Given the description of an element on the screen output the (x, y) to click on. 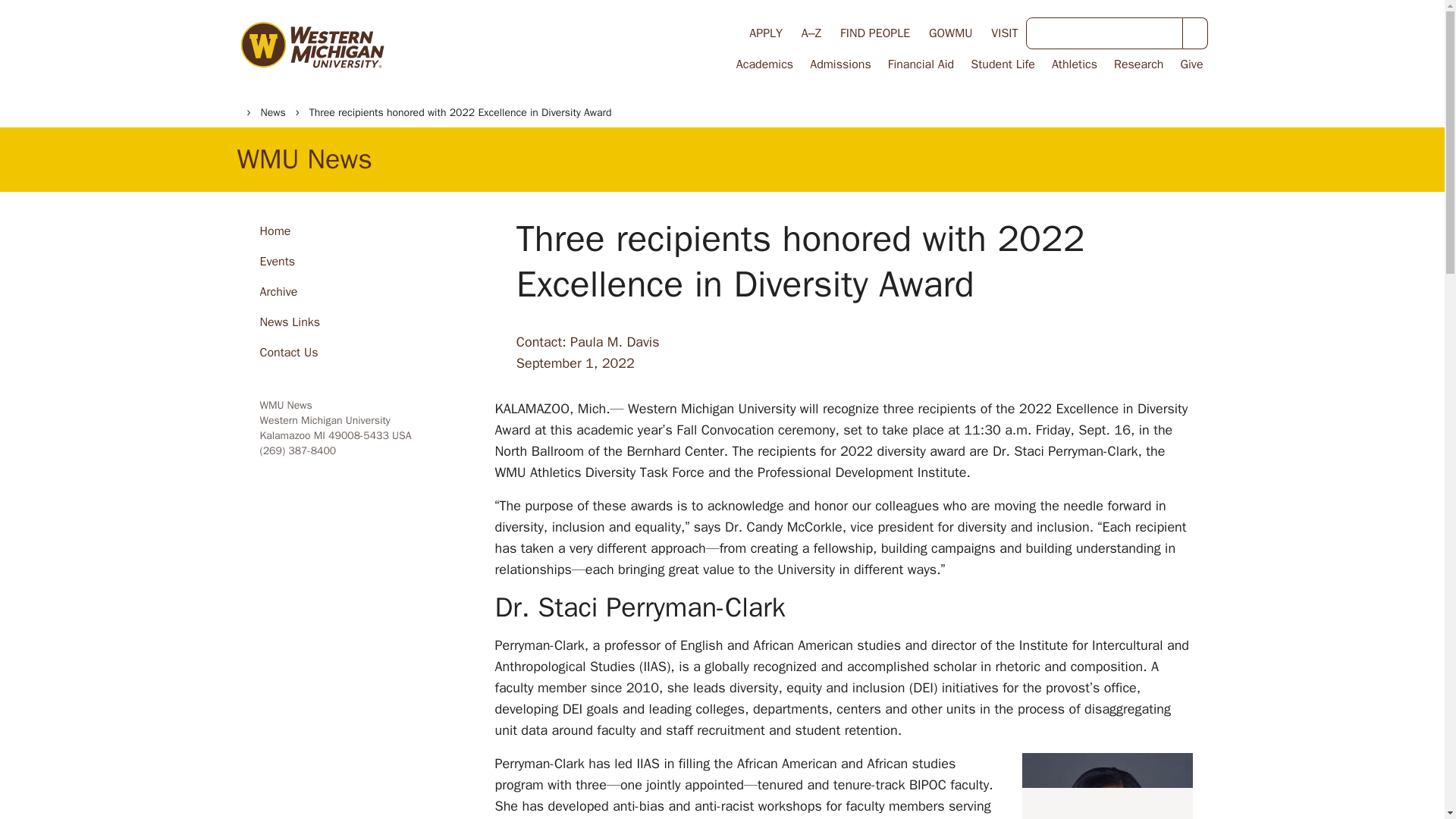
Give (1189, 64)
Back to Western Michigan University home page (311, 48)
Research (1137, 64)
GOWMU (950, 33)
FIND PEOPLE (875, 33)
APPLY (766, 33)
Admissions (839, 64)
News (272, 112)
Academics (763, 64)
Student Life (1000, 64)
